Given the description of an element on the screen output the (x, y) to click on. 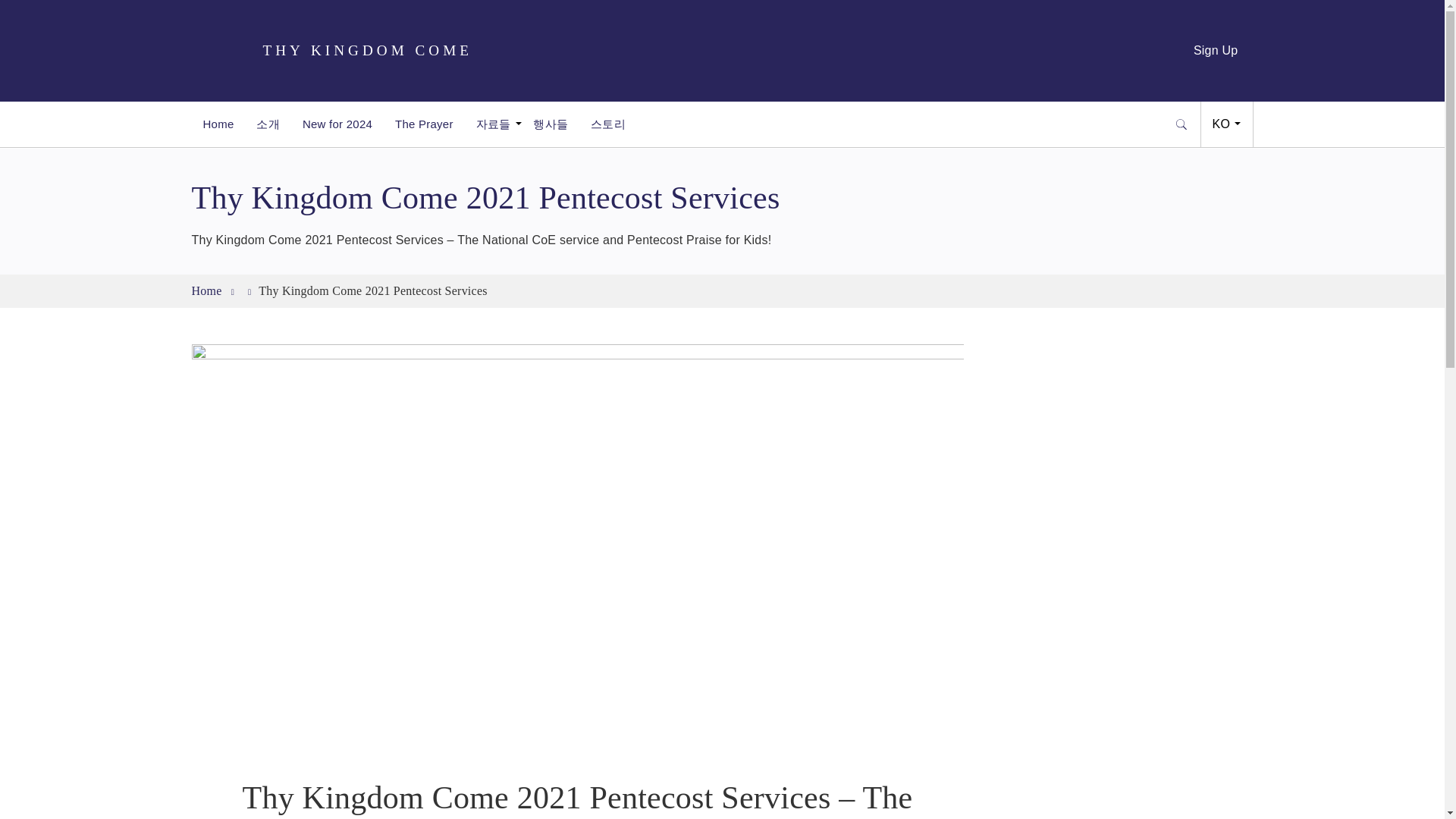
Sign Up (1215, 50)
THY KINGDOM COME (330, 50)
Home (205, 290)
KO (1226, 124)
Home (217, 124)
New for 2024 (337, 124)
The Prayer (424, 124)
